Given the description of an element on the screen output the (x, y) to click on. 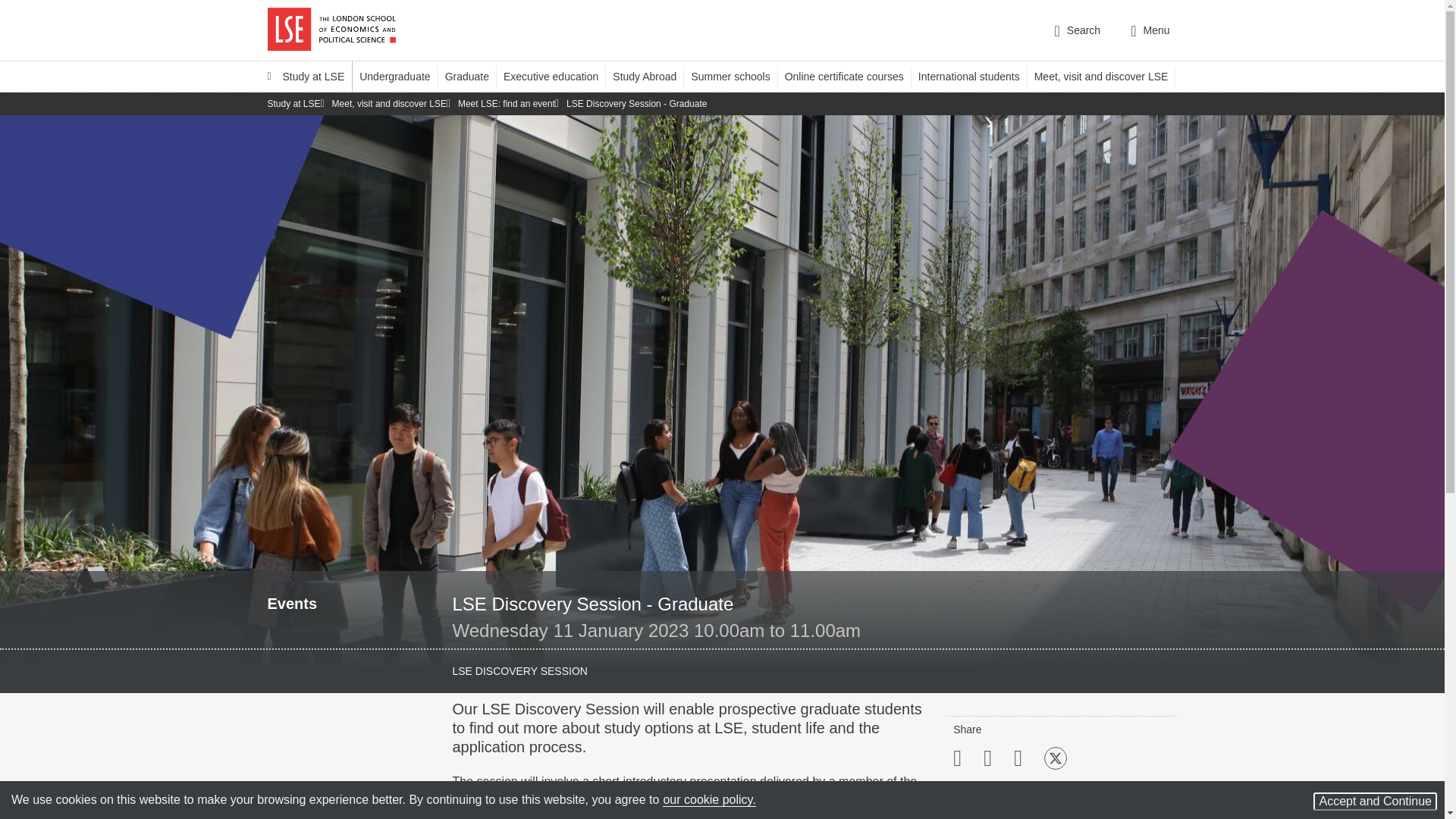
London School of Economics and Political Science (330, 30)
Meet, visit and discover LSE (1107, 76)
Summer schools (737, 76)
Undergraduate (401, 76)
Study Abroad (651, 76)
Accept and Continue (1375, 801)
Online certificate courses (851, 76)
Summer schools (737, 76)
Executive education (557, 76)
Search (1077, 30)
Online certificate courses (851, 76)
Study at LSE (305, 76)
International students (975, 76)
Graduate (474, 76)
Study at LSE (305, 76)
